Given the description of an element on the screen output the (x, y) to click on. 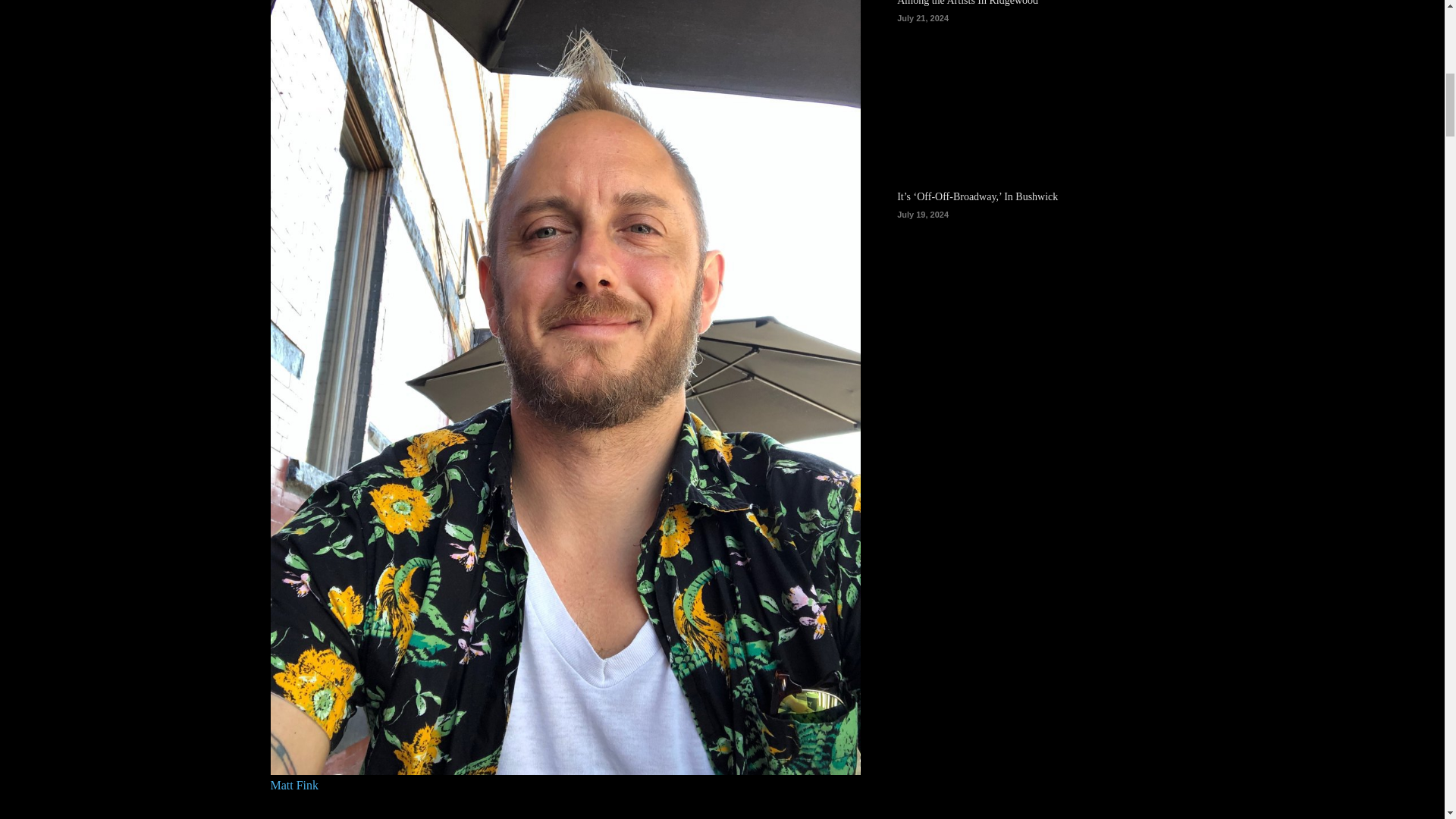
Among the Artists In Ridgewood (1034, 90)
Matt Fink (293, 784)
